Given the description of an element on the screen output the (x, y) to click on. 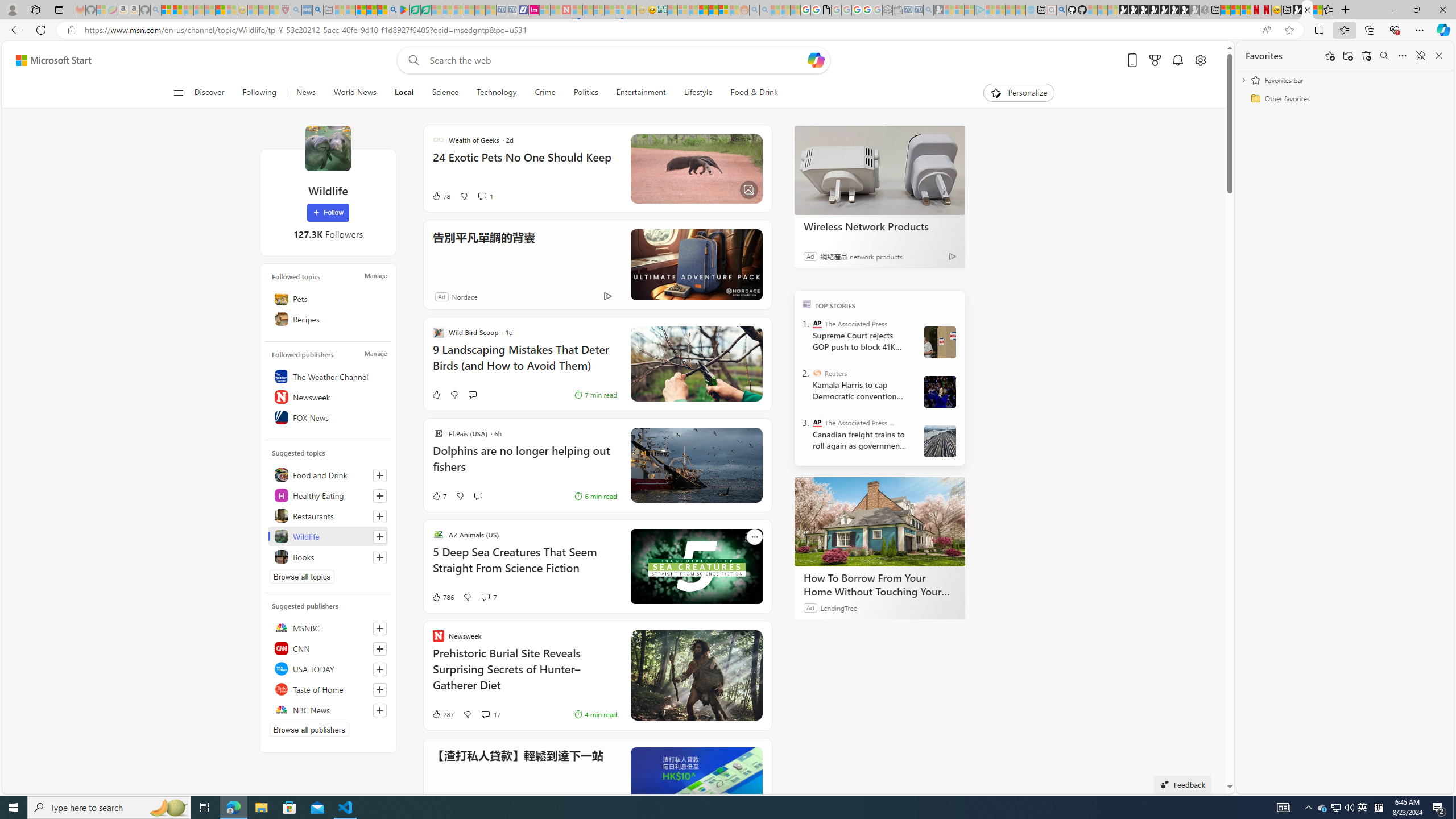
NBC News (327, 709)
Follow this source (379, 710)
